Given the description of an element on the screen output the (x, y) to click on. 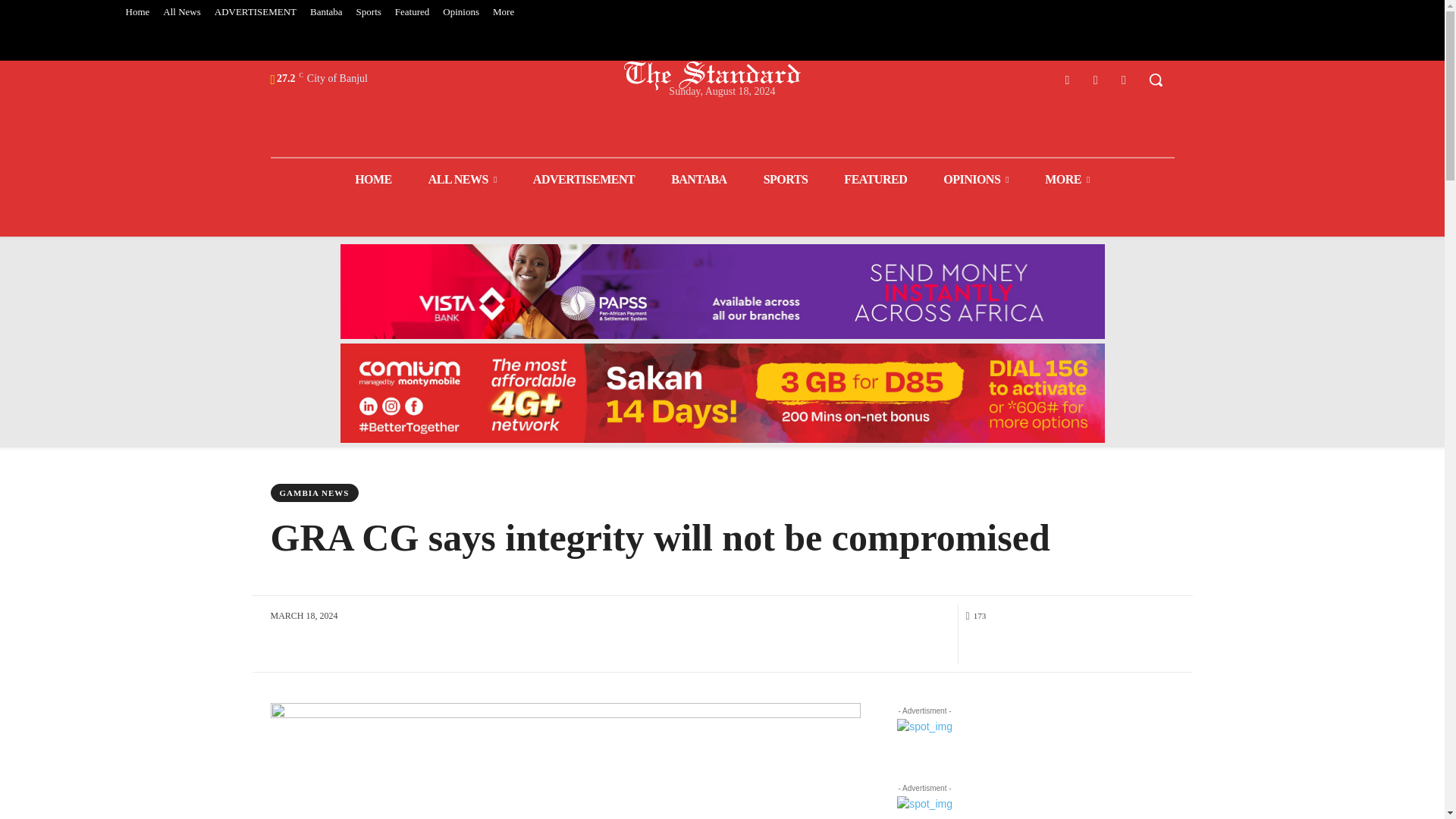
ADVERTISEMENT (255, 12)
Opinions (460, 12)
Facebook (1067, 79)
Home (136, 12)
Sports (368, 12)
ALL NEWS (462, 178)
Featured (411, 12)
More (503, 12)
All News (180, 12)
Youtube (1123, 79)
